Given the description of an element on the screen output the (x, y) to click on. 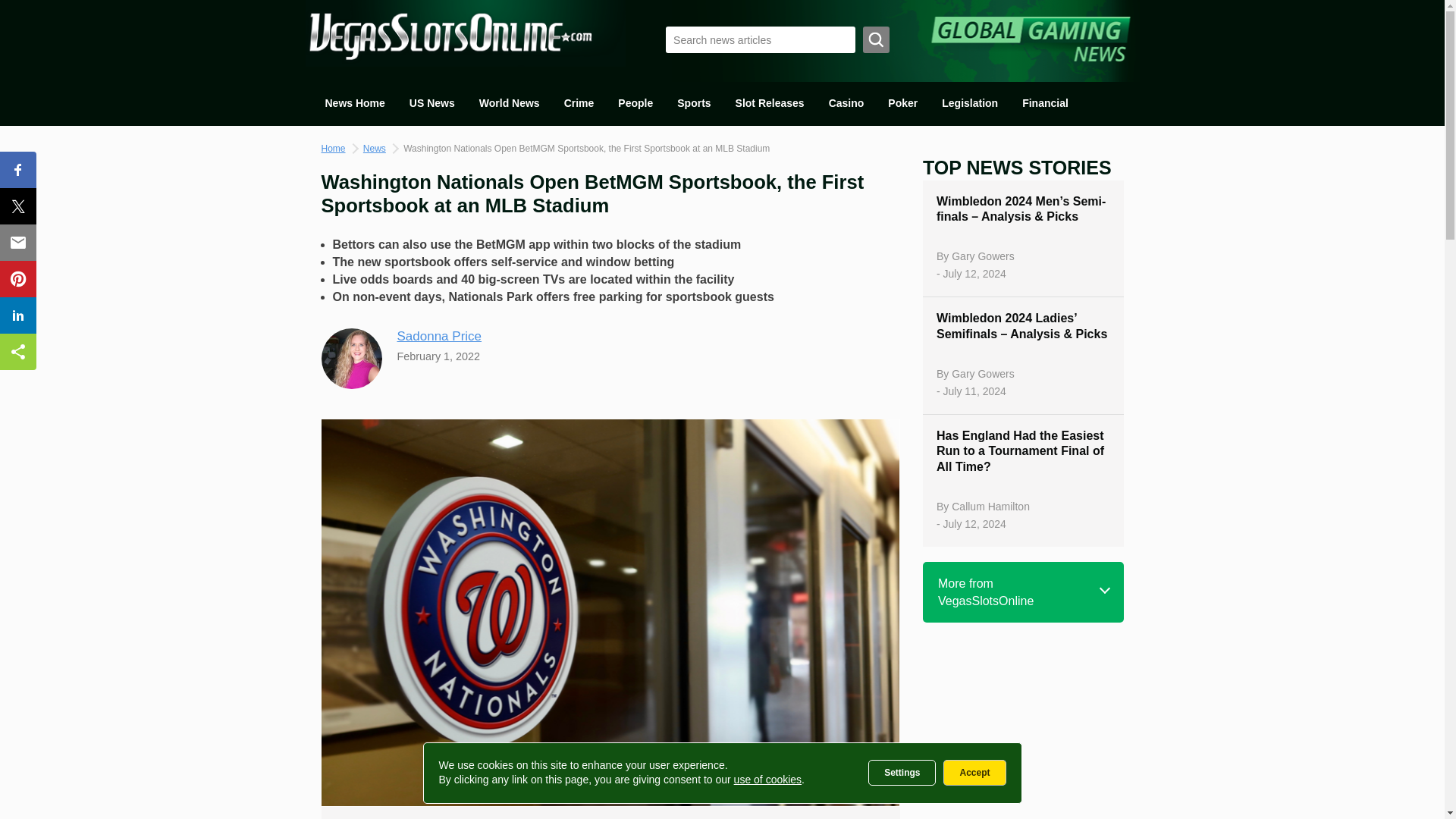
Callum Hamilton (990, 506)
Gary Gowers (982, 373)
Poker (903, 103)
World News (509, 103)
Legislation (970, 103)
Casino (846, 103)
Home (333, 148)
US News (432, 103)
News Home (354, 103)
Crime (579, 103)
Financial (1045, 103)
Sports (693, 103)
People (635, 103)
Sadonna Price (439, 336)
